Given the description of an element on the screen output the (x, y) to click on. 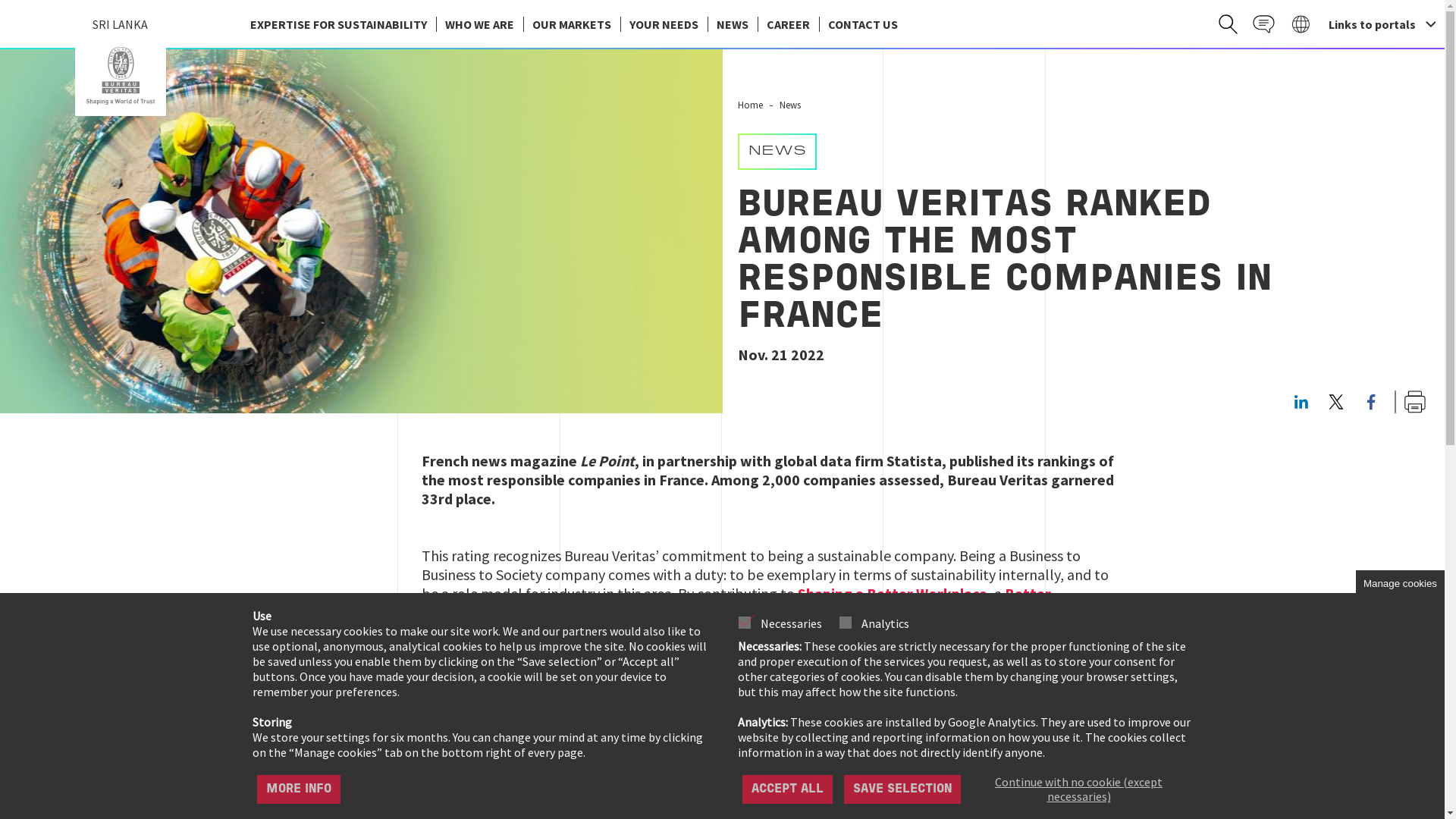
Home (120, 76)
OUR MARKETS (571, 23)
EXPERTISE FOR SUSTAINABILITY (338, 23)
YOUR NEEDS (663, 23)
NEWS (731, 23)
CAREER (787, 23)
Sri Lanka (120, 76)
WHO WE ARE (478, 23)
